Given the description of an element on the screen output the (x, y) to click on. 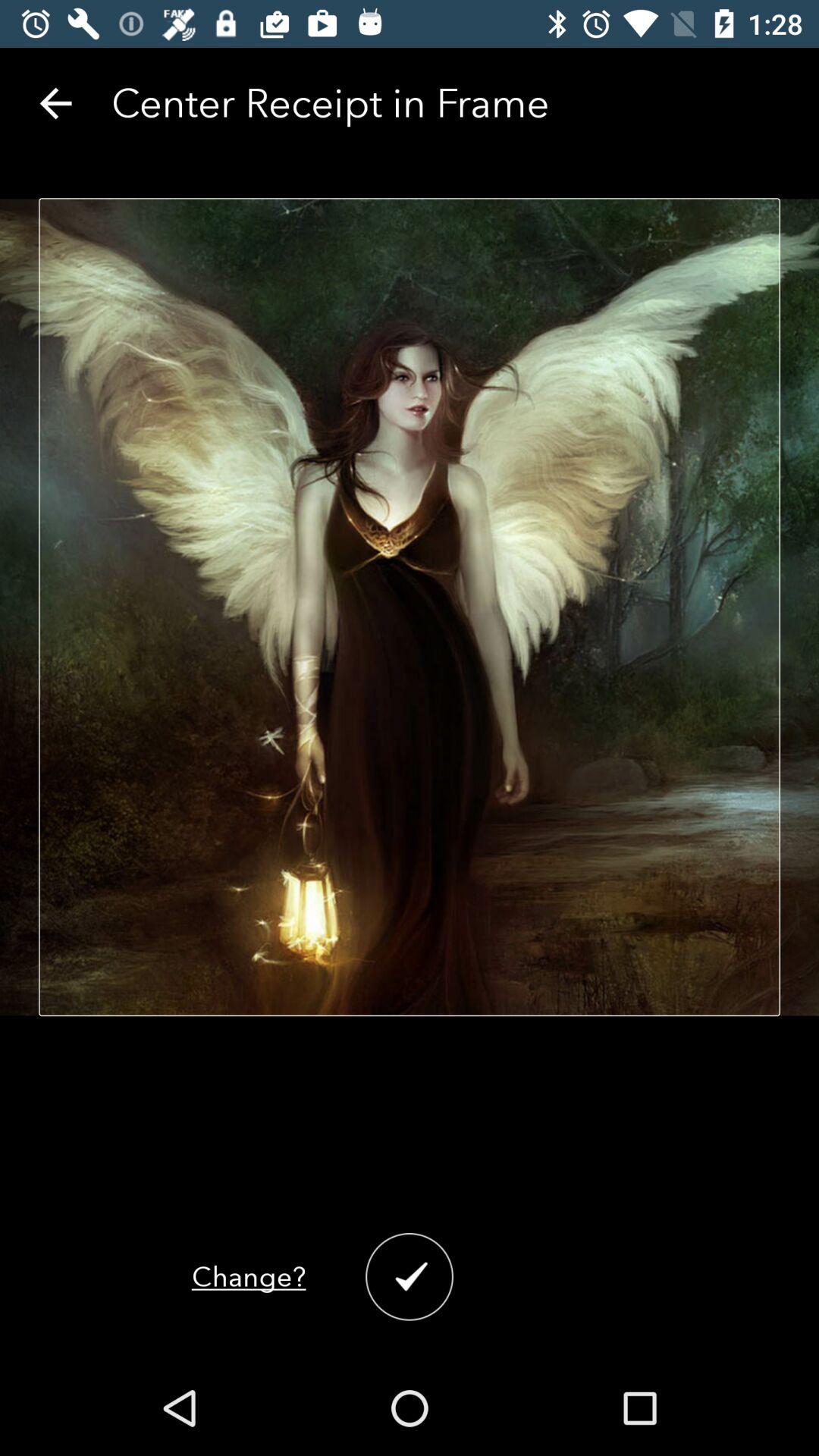
launch icon to the right of the change? (409, 1276)
